Given the description of an element on the screen output the (x, y) to click on. 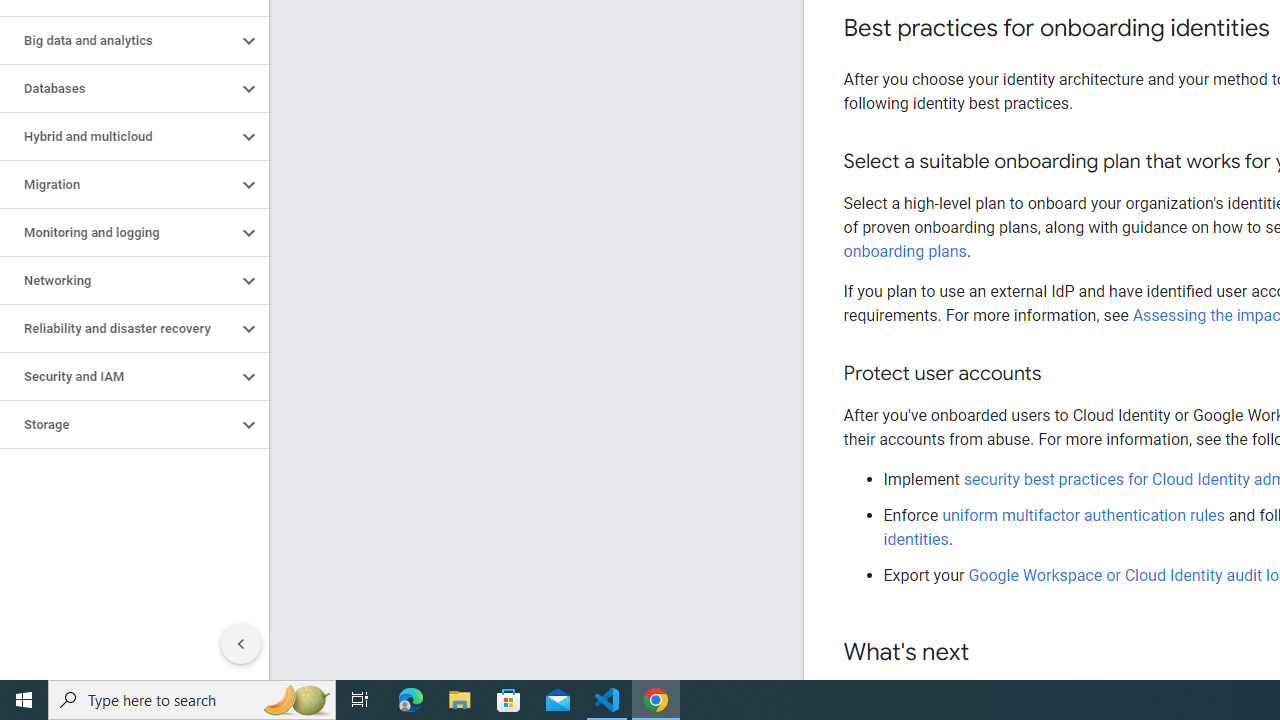
Copy link to this section: Protect user accounts (1060, 374)
Networking (118, 281)
Migration (118, 184)
Copy link to this section: What's next (988, 653)
Storage (118, 425)
Big data and analytics (118, 40)
uniform multifactor authentication rules  (1085, 515)
Reliability and disaster recovery (118, 328)
Hybrid and multicloud (118, 137)
Monitoring and logging (118, 232)
Security and IAM (118, 376)
Databases (118, 88)
Hide side navigation (241, 643)
